Given the description of an element on the screen output the (x, y) to click on. 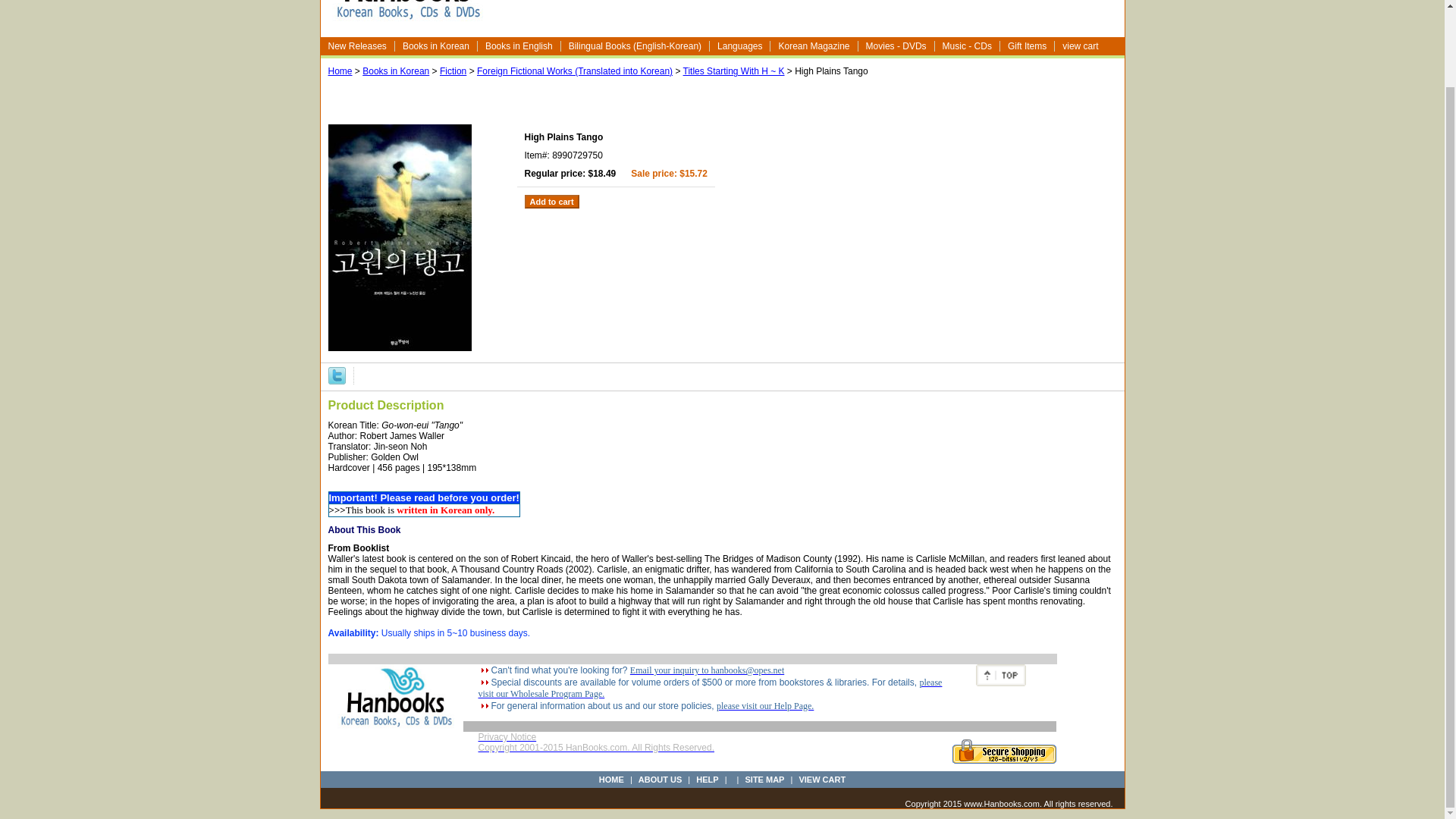
Languages (740, 45)
ABOUT US (659, 778)
Books in Korean (395, 71)
Korean Magazine (813, 45)
Gift Items (1027, 45)
Copyright 2001-2015 HanBooks.com. All Rights Reserved. (595, 752)
view cart (1081, 45)
Music - CDs (967, 45)
view cart (1081, 45)
Add to cart (551, 201)
